Given the description of an element on the screen output the (x, y) to click on. 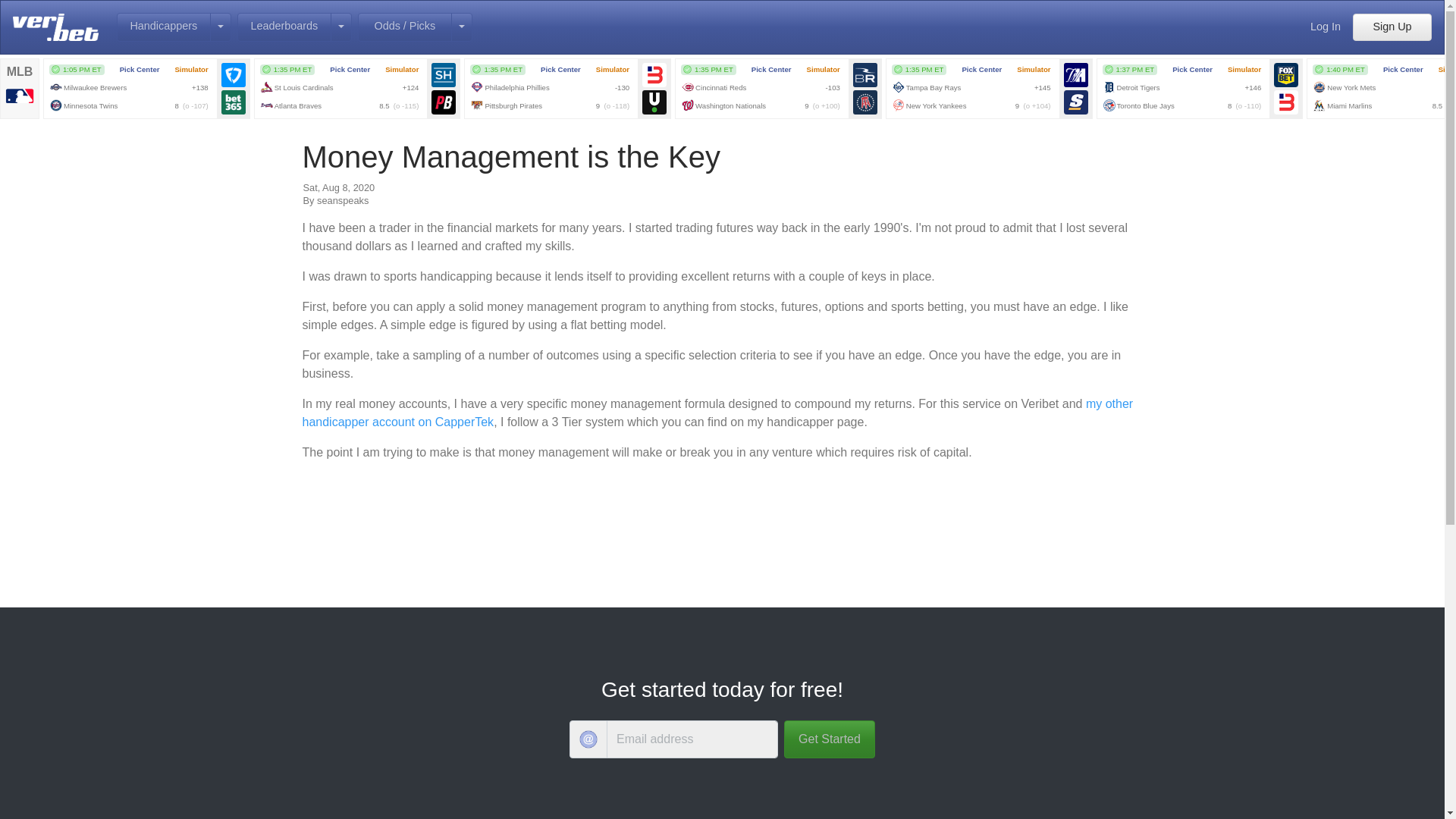
my other handicapper account on CapperTek (716, 412)
Leaderboards (284, 27)
Handicappers (163, 27)
Log In (1325, 27)
Sign Up (1391, 26)
seanspeaks (342, 200)
Get Started (829, 739)
